Given the description of an element on the screen output the (x, y) to click on. 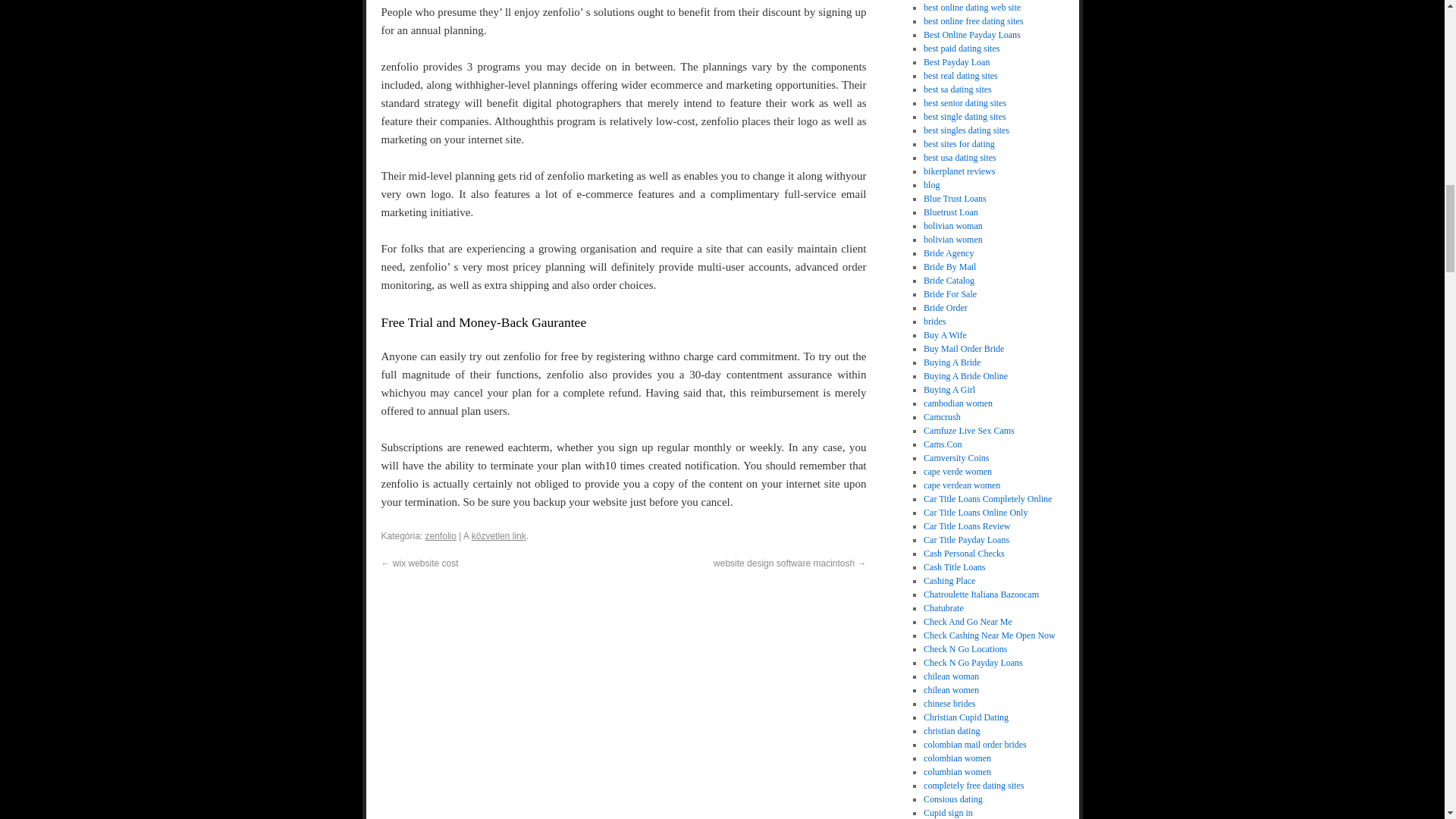
zenfolio (441, 535)
